Given the description of an element on the screen output the (x, y) to click on. 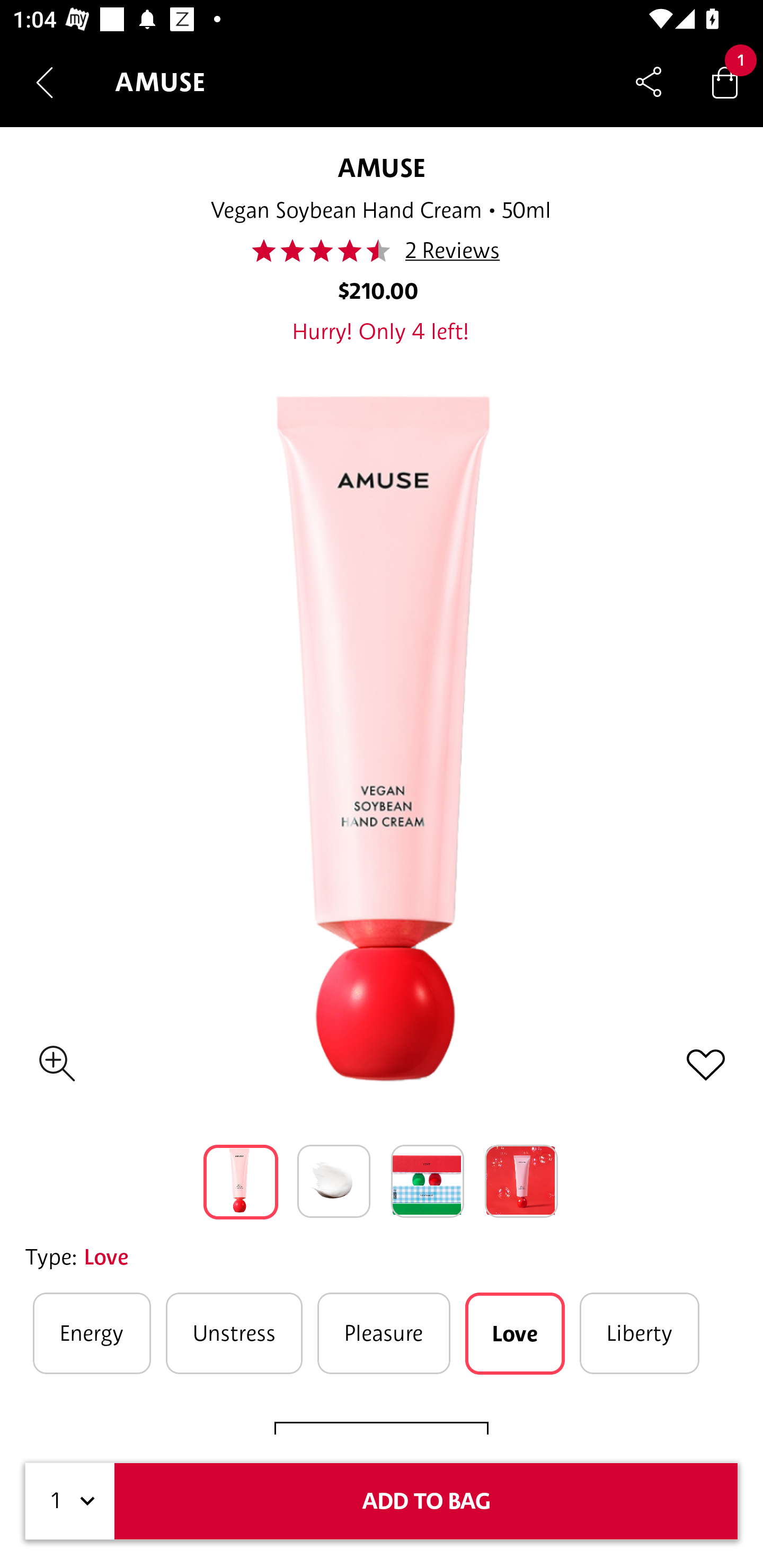
Navigate up (44, 82)
Share (648, 81)
Bag (724, 81)
AMUSE (380, 167)
45.0 2 Reviews (380, 250)
Energy (91, 1332)
Unstress (233, 1332)
Pleasure (383, 1332)
Love (514, 1333)
Liberty (639, 1332)
1 (69, 1500)
ADD TO BAG (425, 1500)
